Given the description of an element on the screen output the (x, y) to click on. 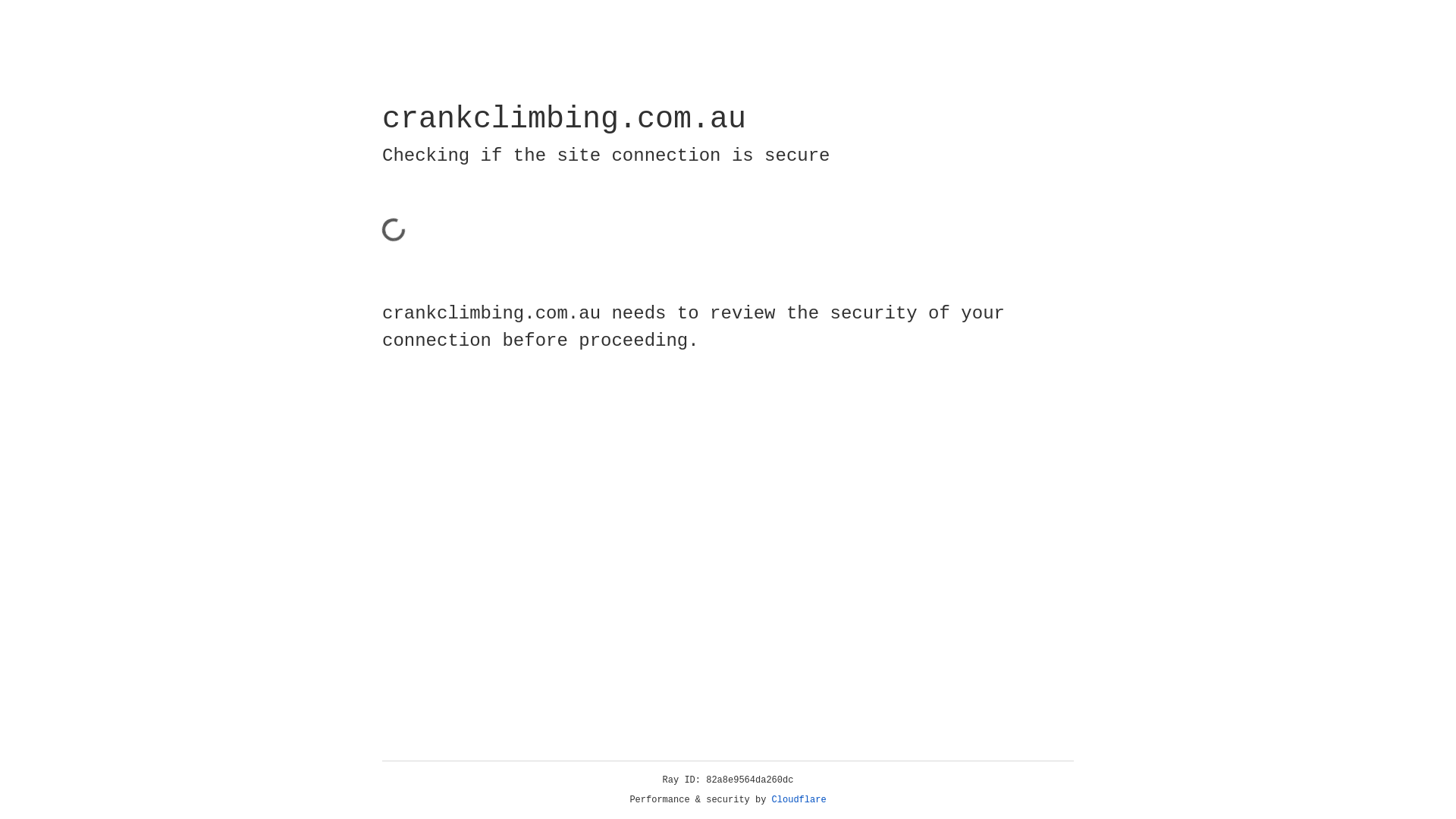
Cloudflare Element type: text (798, 799)
